Given the description of an element on the screen output the (x, y) to click on. 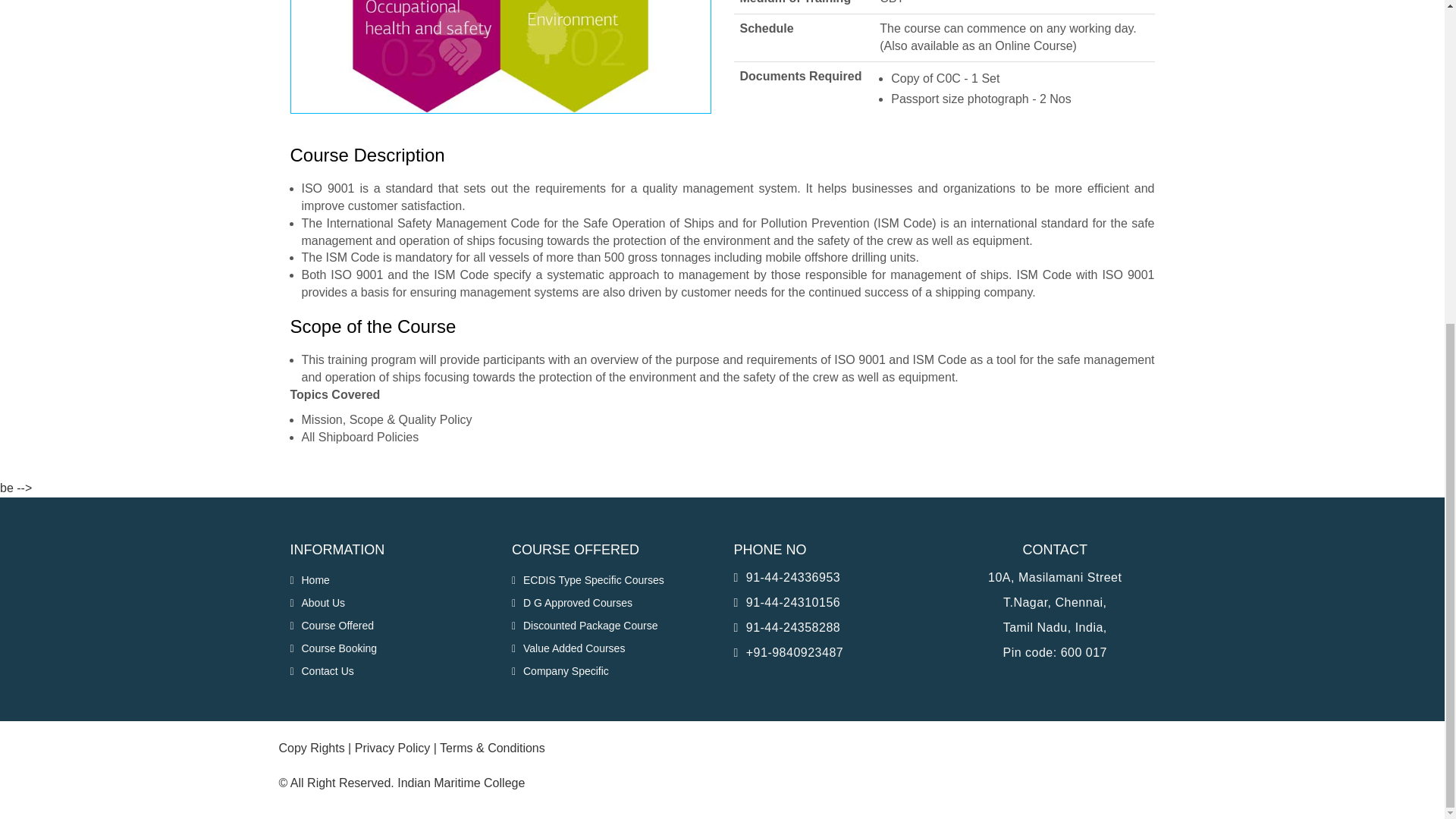
D G Approved Courses (571, 603)
Course Booking (333, 649)
ECDIS Type Specific Courses (587, 580)
Course Offered (330, 626)
Home (309, 580)
Contact Us (321, 671)
About Us (317, 603)
